Given the description of an element on the screen output the (x, y) to click on. 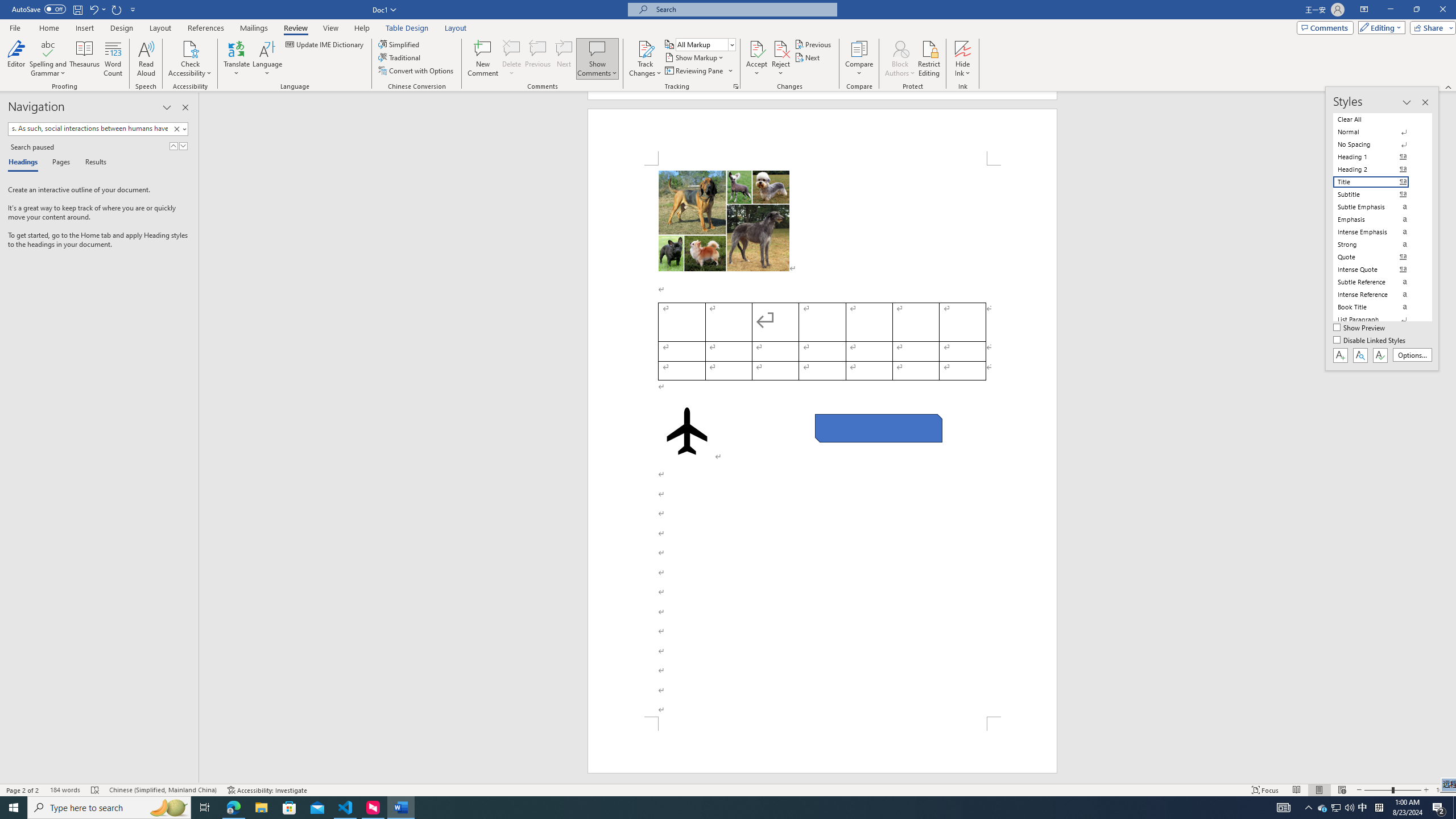
Undo Style (92, 9)
Normal (1377, 131)
Clear (176, 128)
Reviewing Pane (698, 69)
Restrict Editing (929, 58)
Clear (178, 128)
Hide Ink (962, 58)
Thesaurus... (84, 58)
